Given the description of an element on the screen output the (x, y) to click on. 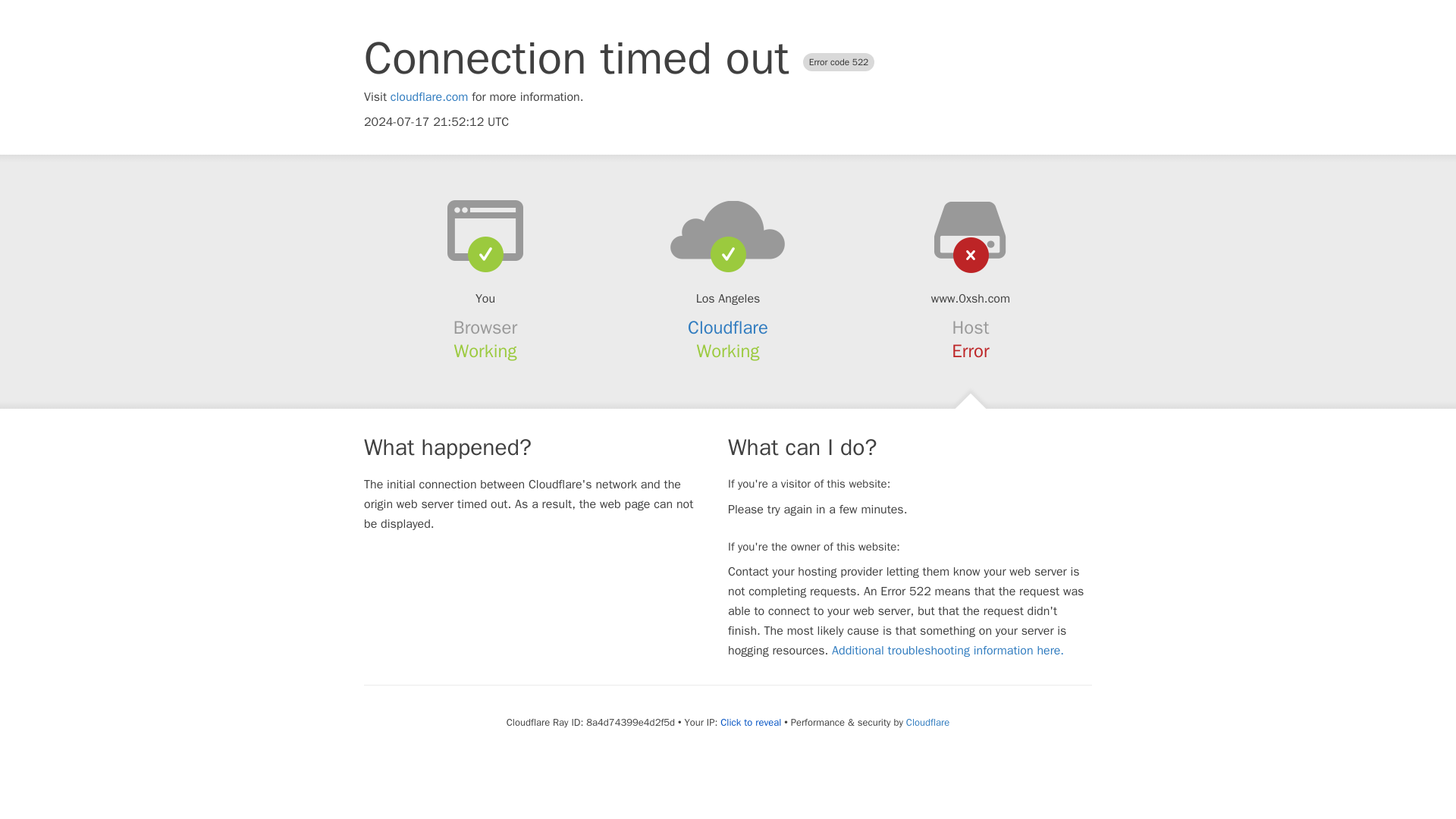
Click to reveal (750, 722)
Cloudflare (927, 721)
Cloudflare (727, 327)
Additional troubleshooting information here. (947, 650)
cloudflare.com (429, 96)
